Given the description of an element on the screen output the (x, y) to click on. 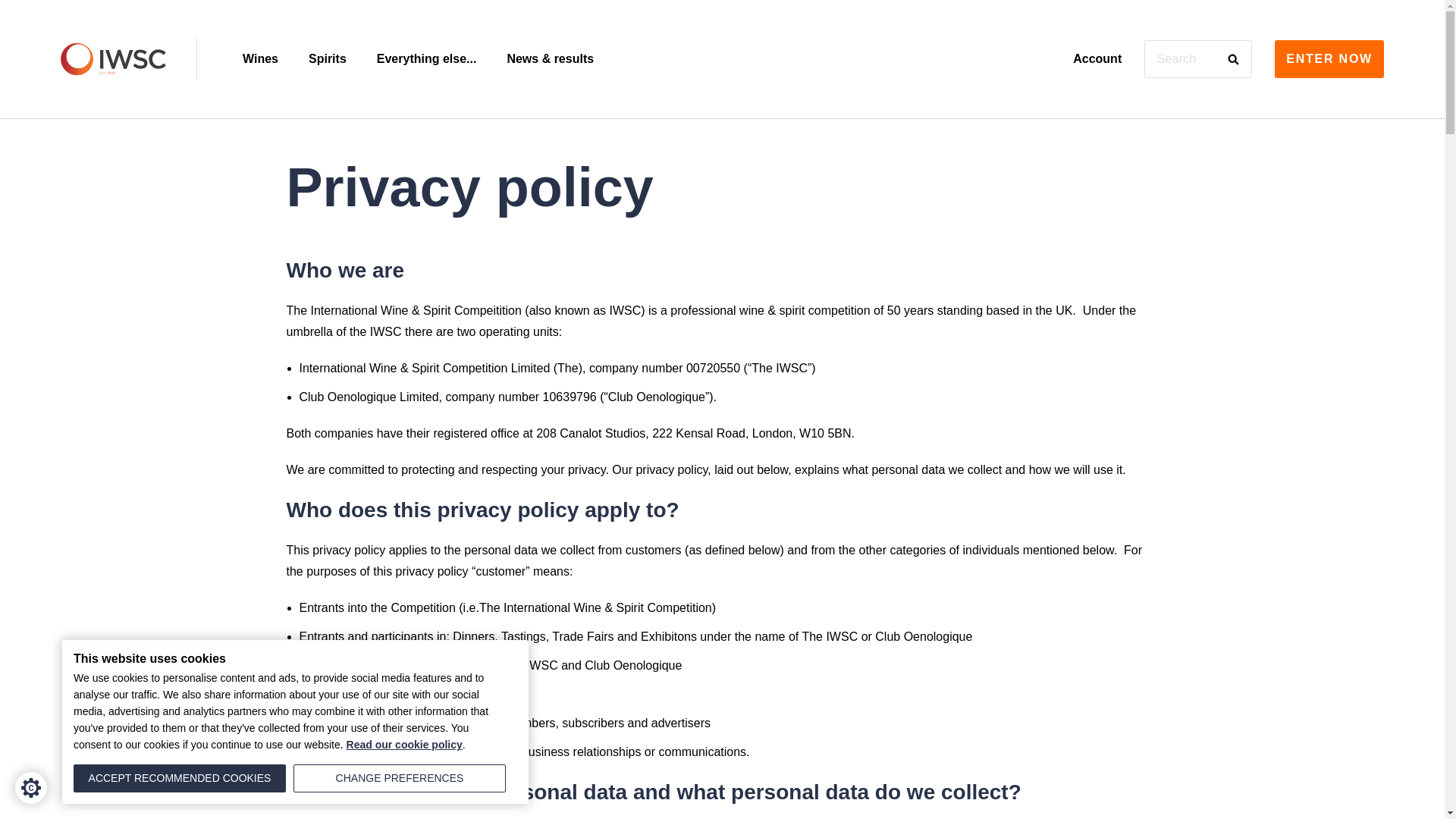
Spirits (327, 59)
Spirits (327, 59)
Wines (260, 59)
Wines (260, 59)
